Given the description of an element on the screen output the (x, y) to click on. 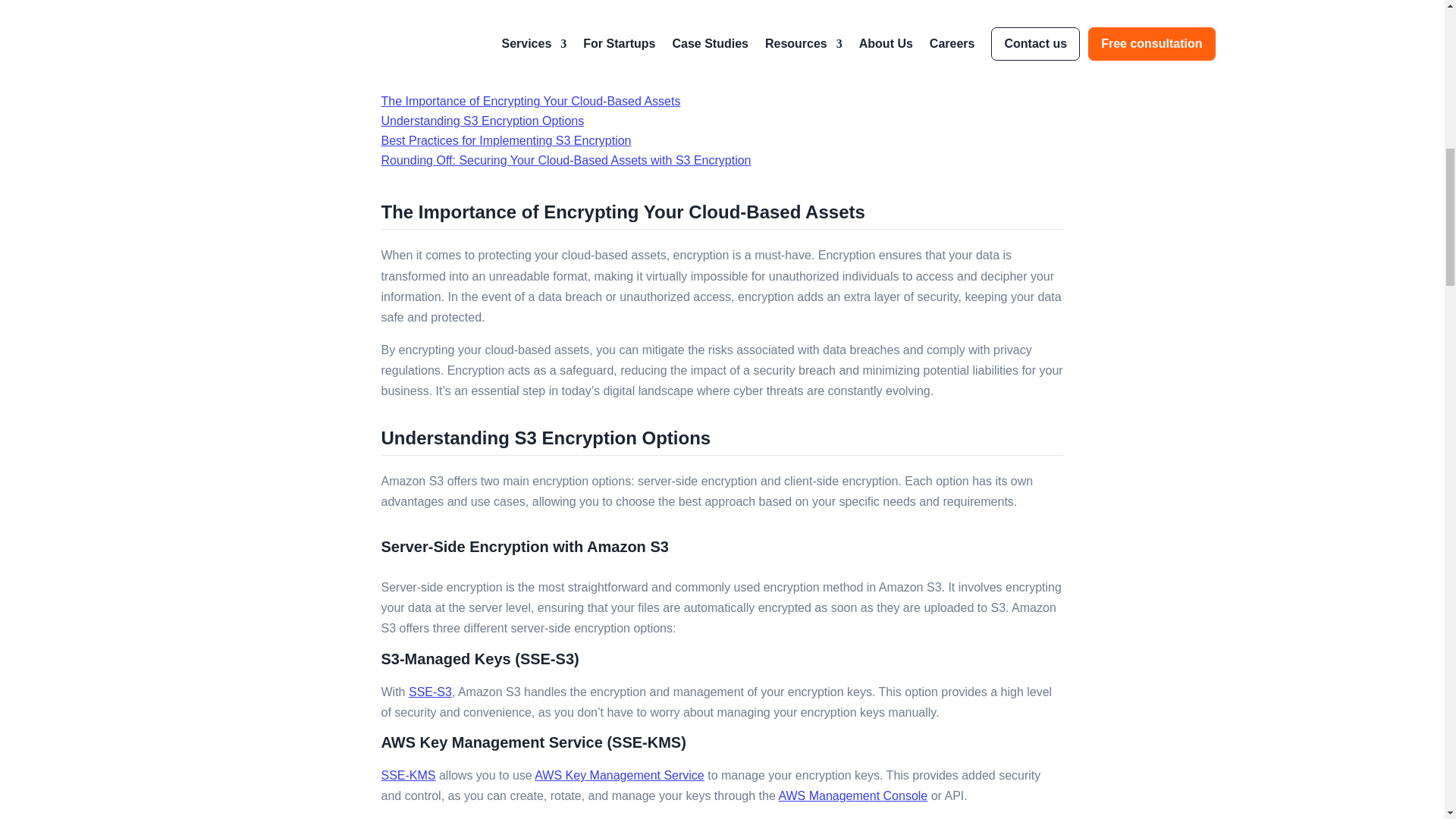
SSE-S3 (430, 691)
SSE-KMS (407, 775)
AWS Key Management Service (619, 775)
Understanding S3 Encryption Options (481, 120)
Best Practices for Implementing S3 Encryption (505, 140)
AWS Management Console (852, 795)
The Importance of Encrypting Your Cloud-Based Assets (529, 101)
